Given the description of an element on the screen output the (x, y) to click on. 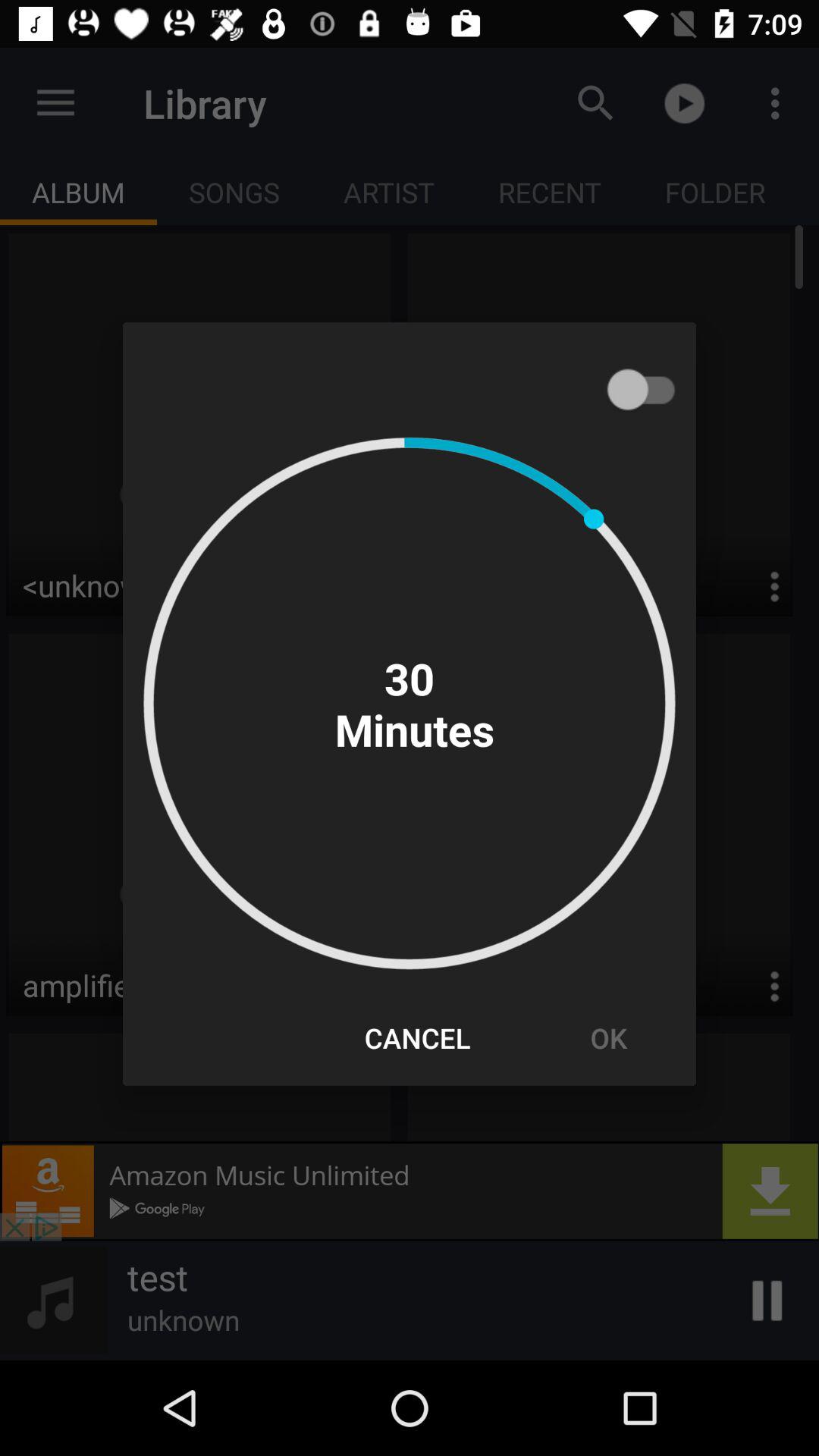
select icon to the left of ok (417, 1037)
